Given the description of an element on the screen output the (x, y) to click on. 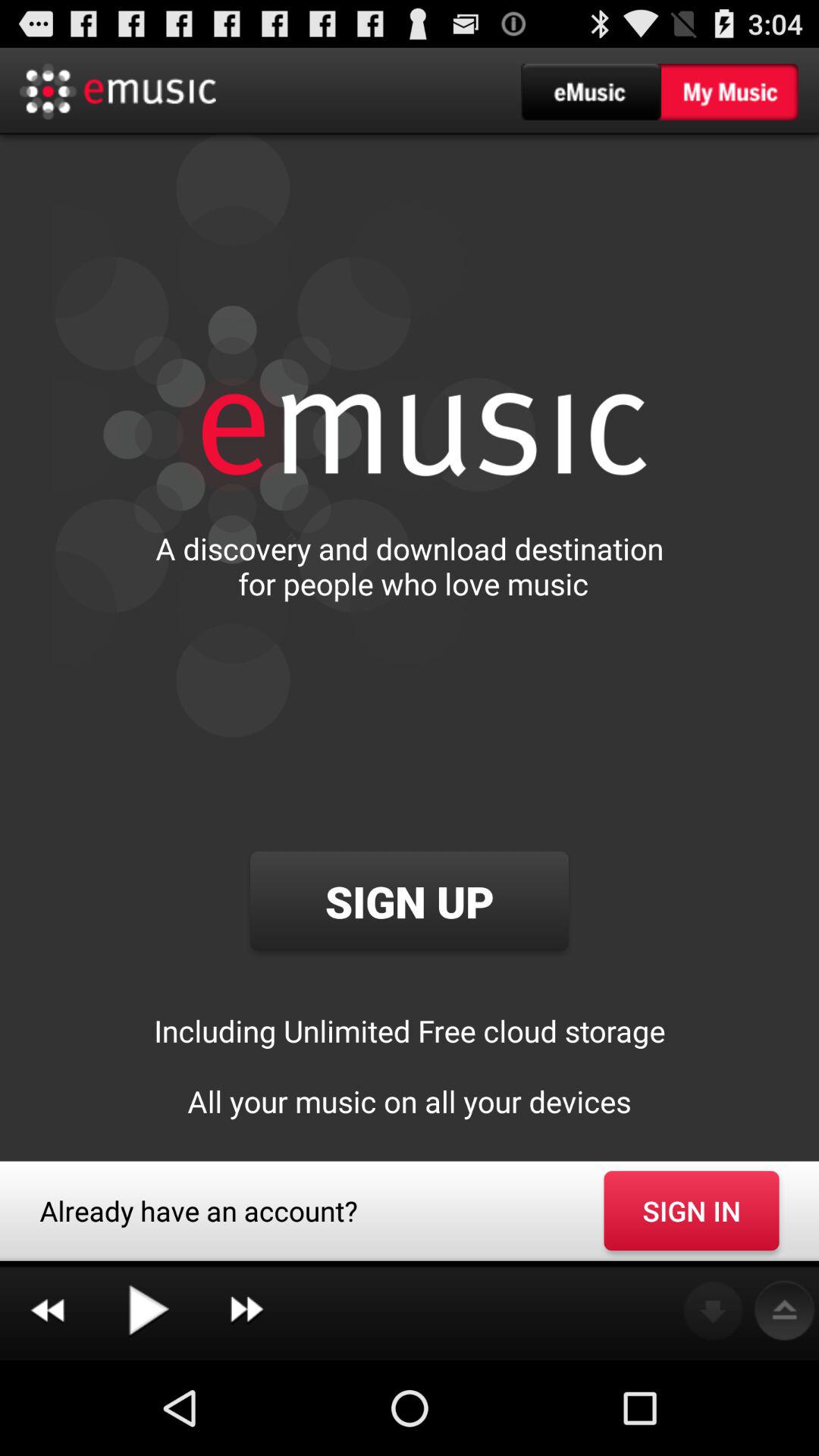
press icon below already have an icon (147, 1311)
